Given the description of an element on the screen output the (x, y) to click on. 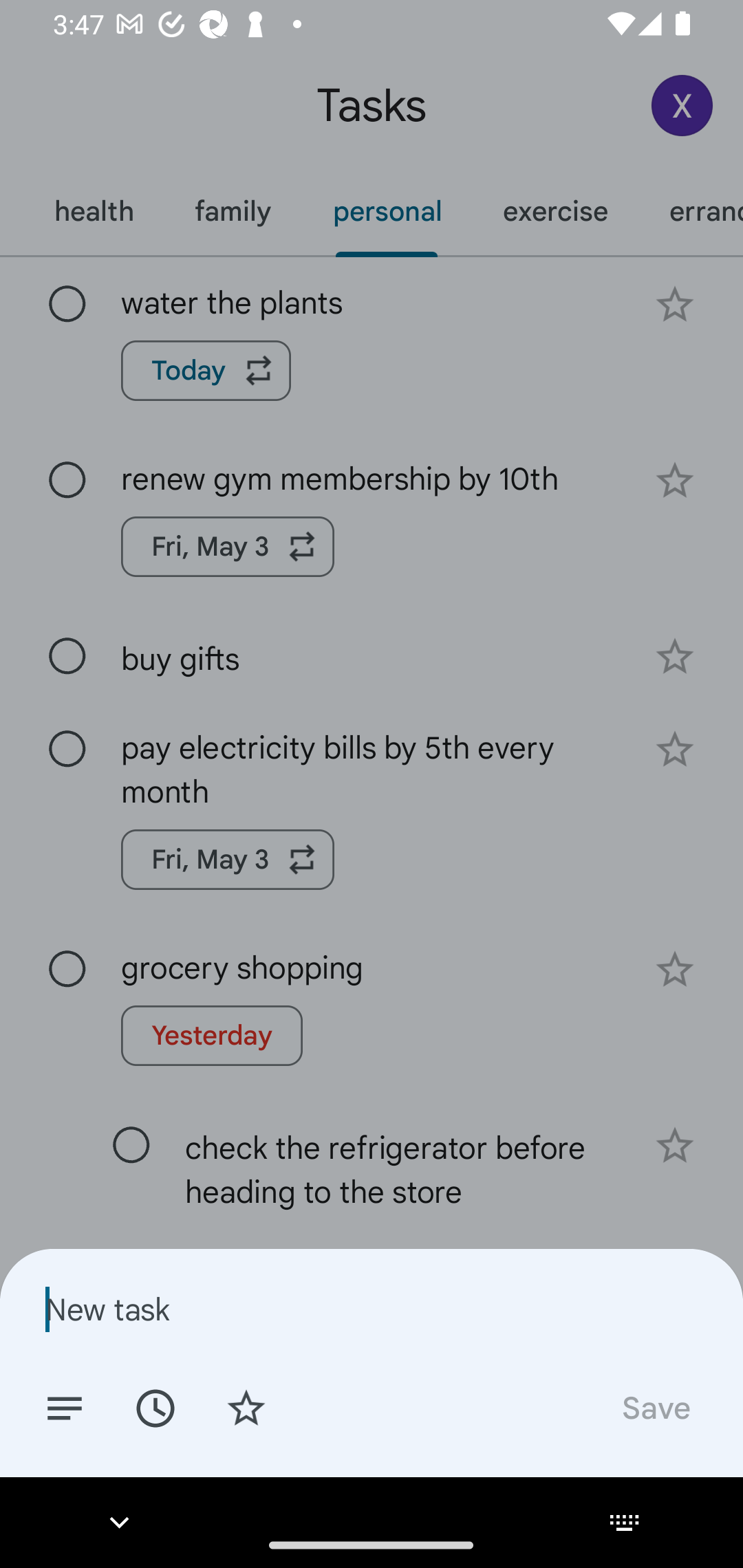
New task (371, 1308)
Save (655, 1407)
Add details (64, 1407)
Set date/time (154, 1407)
Add star (245, 1407)
